Given the description of an element on the screen output the (x, y) to click on. 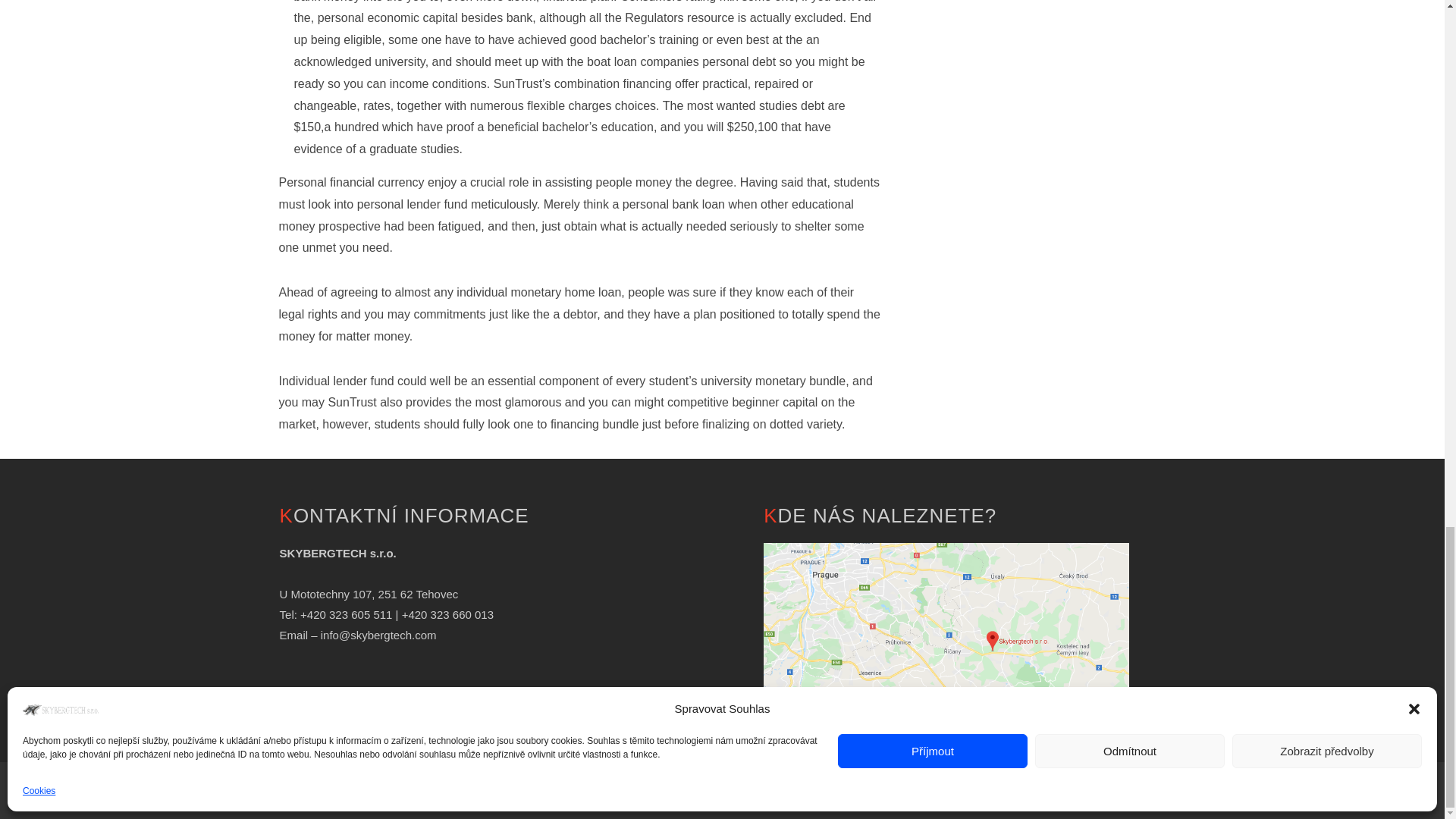
Web-Liska (817, 790)
